Given the description of an element on the screen output the (x, y) to click on. 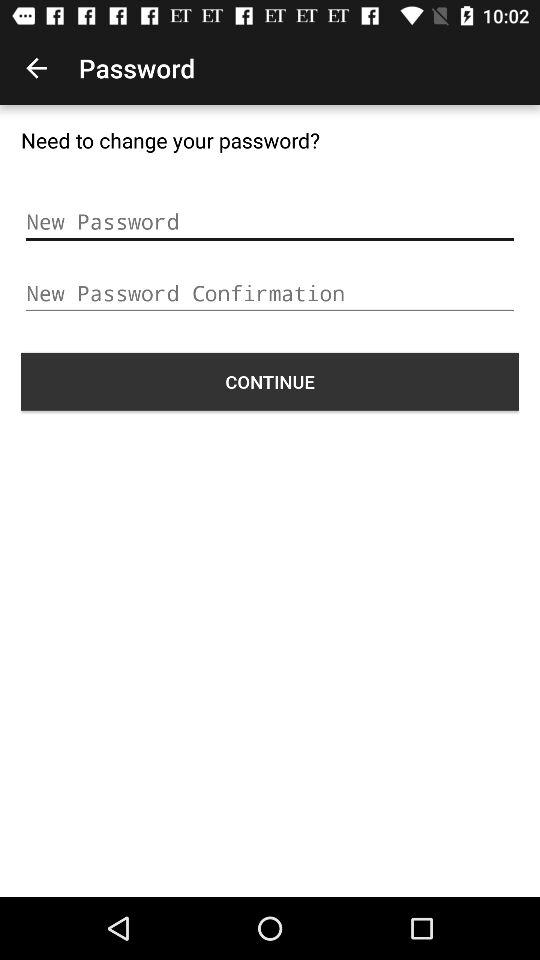
turn off the icon at the center (270, 381)
